Given the description of an element on the screen output the (x, y) to click on. 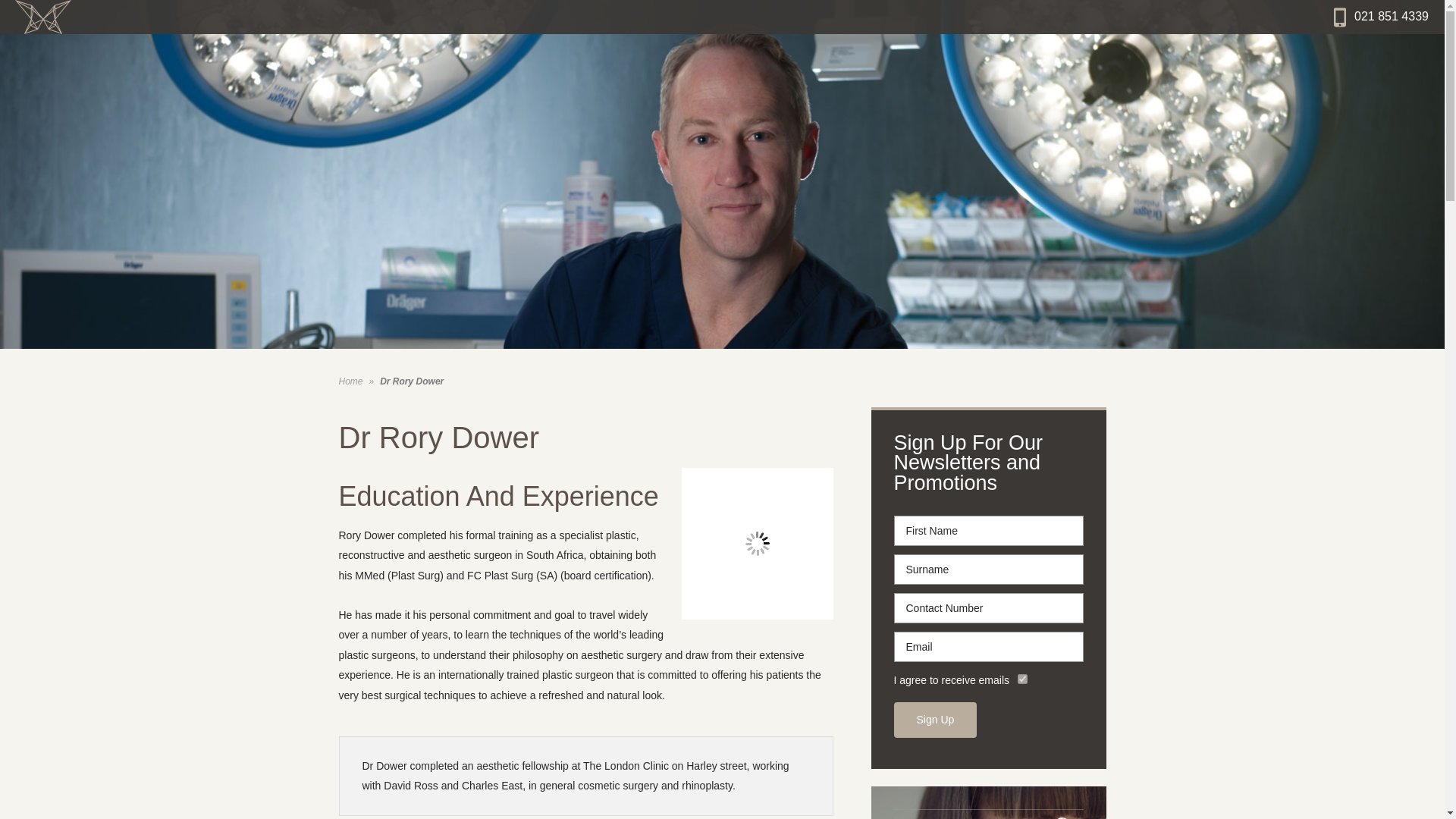
Sign Up (934, 719)
true (1022, 678)
